Given the description of an element on the screen output the (x, y) to click on. 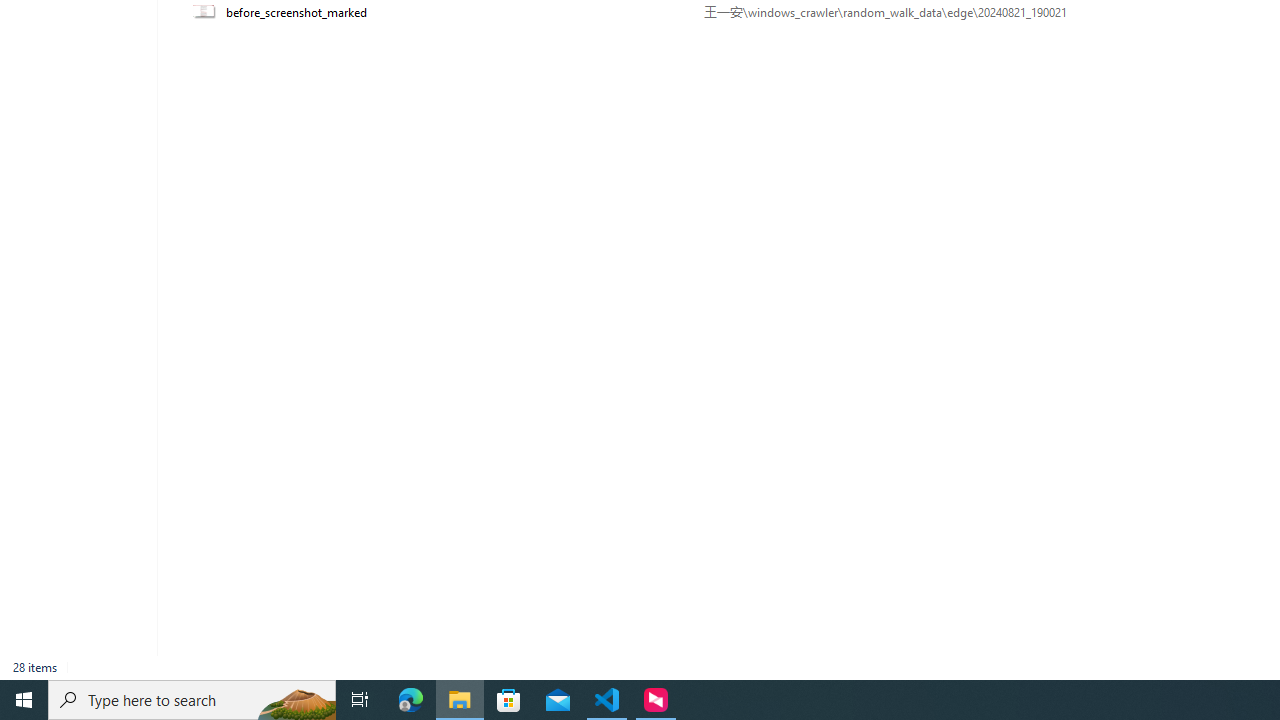
Class: UIImage (205, 12)
Name (457, 12)
Path (936, 12)
